Given the description of an element on the screen output the (x, y) to click on. 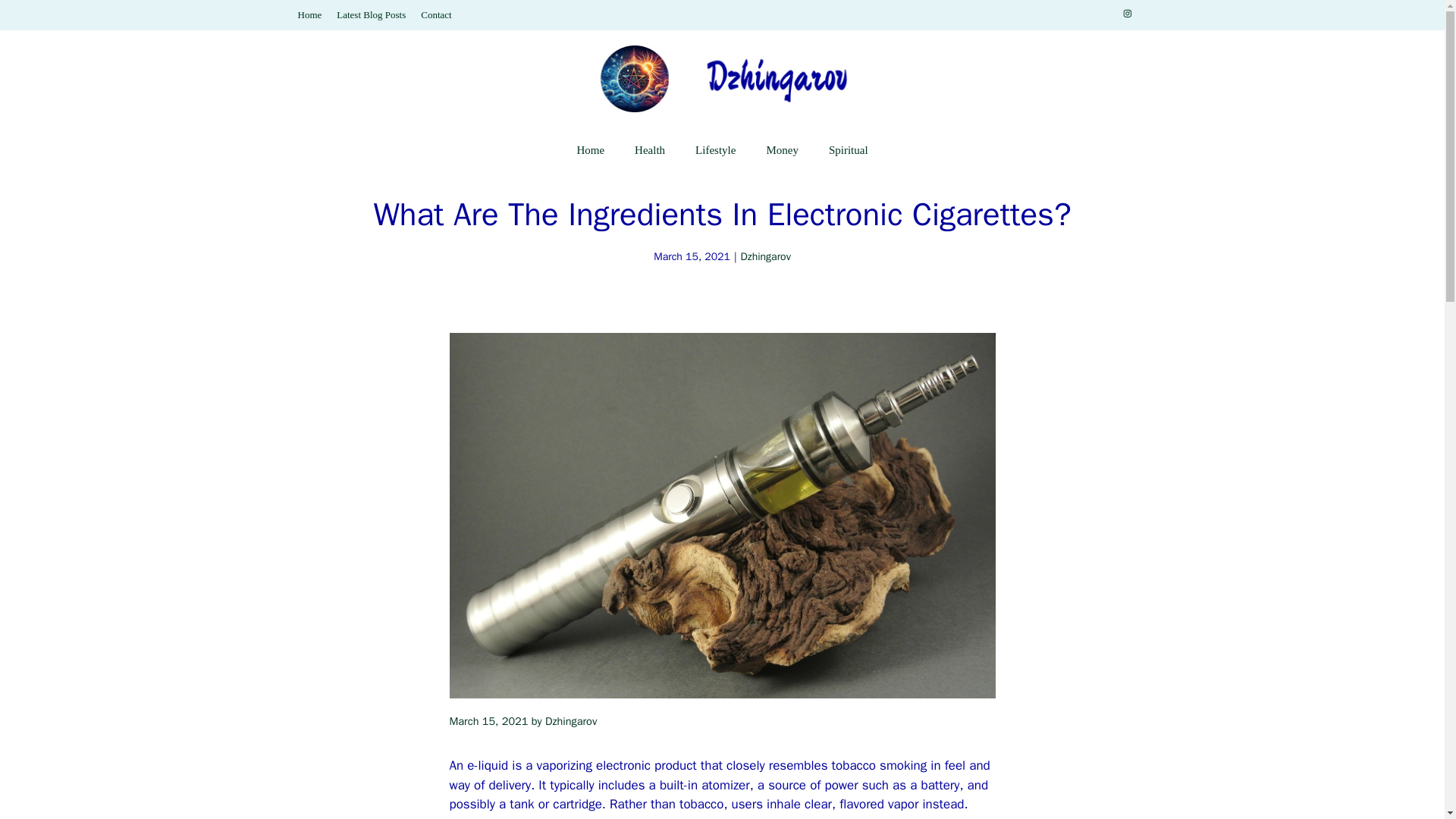
Money (782, 149)
View all posts by Dzhingarov (570, 721)
Dzhingarov (570, 721)
Home (309, 14)
Spiritual (848, 149)
Home (590, 149)
Latest Blog Posts (371, 14)
Contact (435, 14)
Lifestyle (715, 149)
Health (649, 149)
Dzhingarov (765, 256)
